Given the description of an element on the screen output the (x, y) to click on. 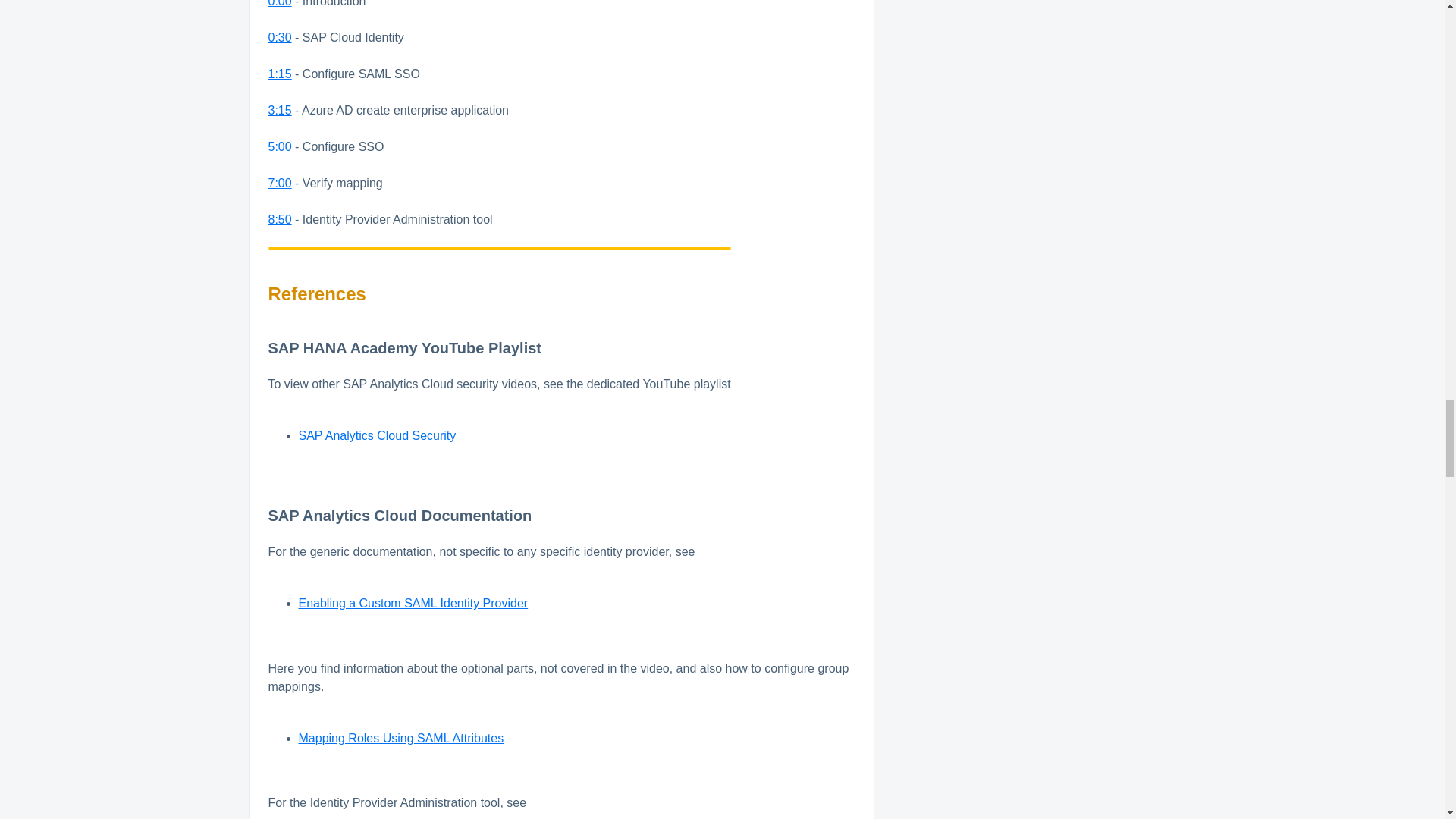
Enabling a Custom SAML Identity Provider (413, 603)
Mapping Roles Using SAML Attributes (400, 738)
SAP Analytics Cloud Security (377, 435)
3:15 (279, 110)
7:00 (279, 182)
0:00 (279, 3)
8:50 (279, 219)
5:00 (279, 146)
1:15 (279, 73)
0:30 (279, 37)
